Given the description of an element on the screen output the (x, y) to click on. 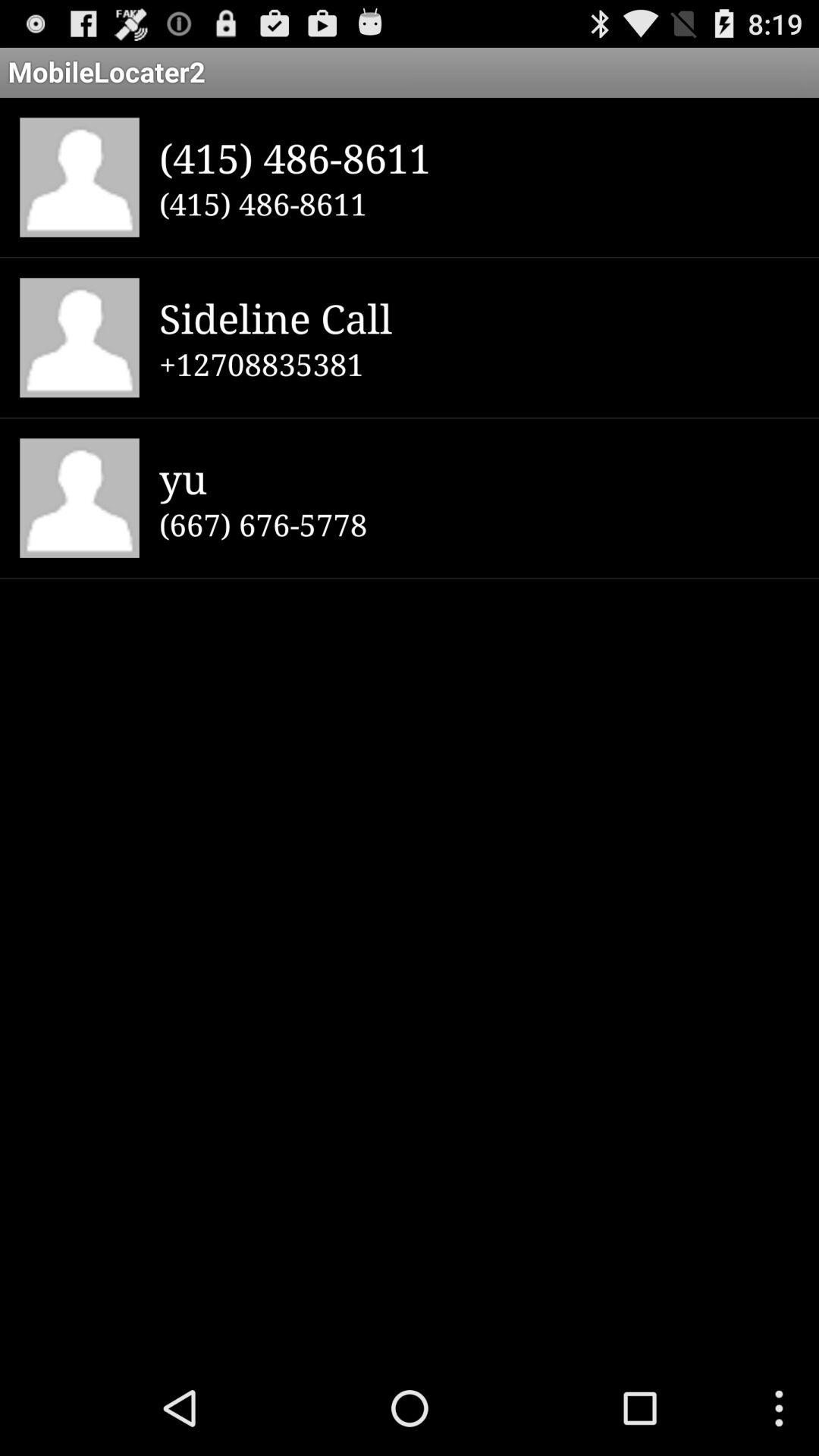
flip until the (667) 676-5778 app (479, 524)
